Given the description of an element on the screen output the (x, y) to click on. 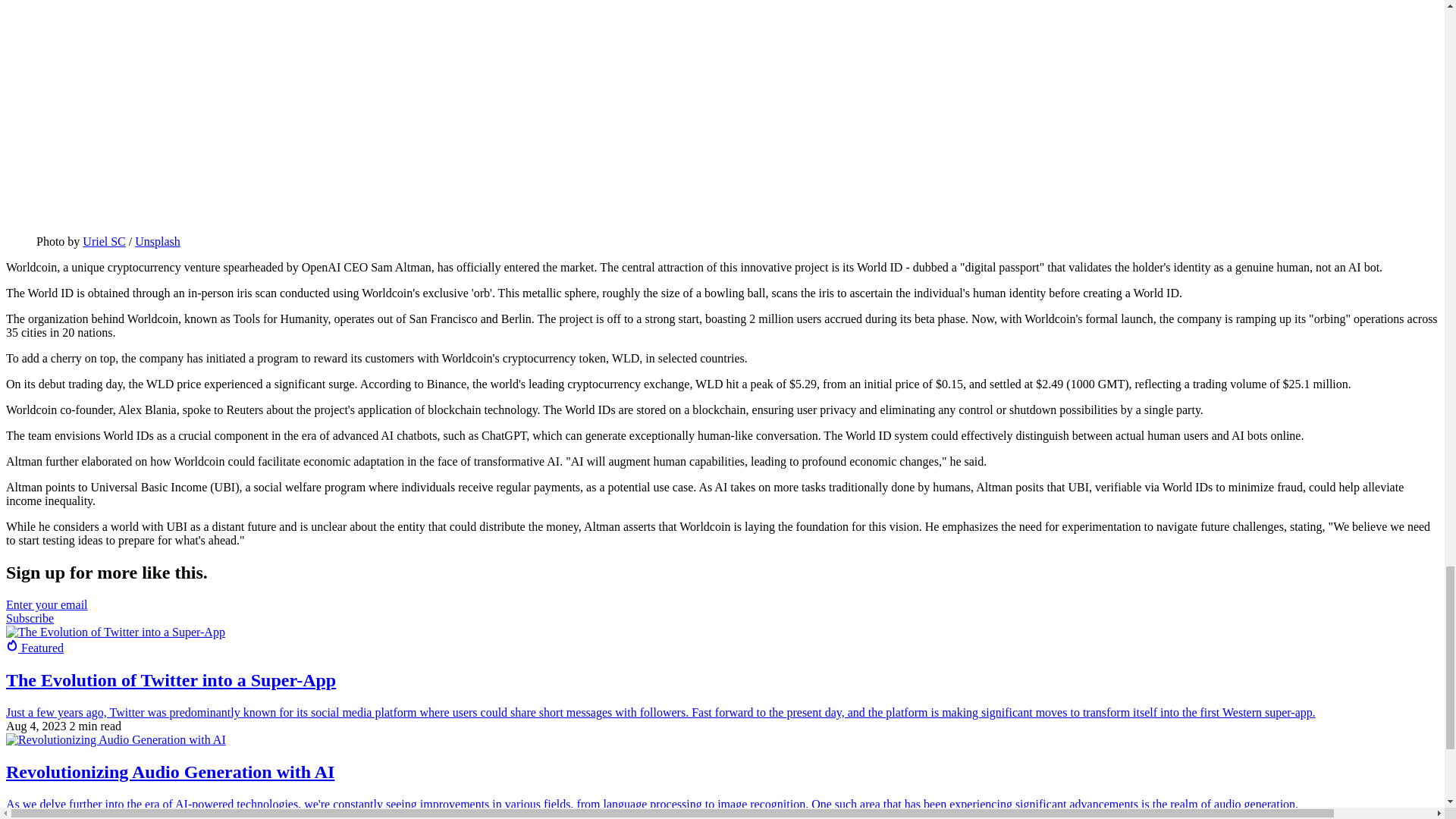
Uriel SC (103, 241)
Unsplash (157, 241)
